Given the description of an element on the screen output the (x, y) to click on. 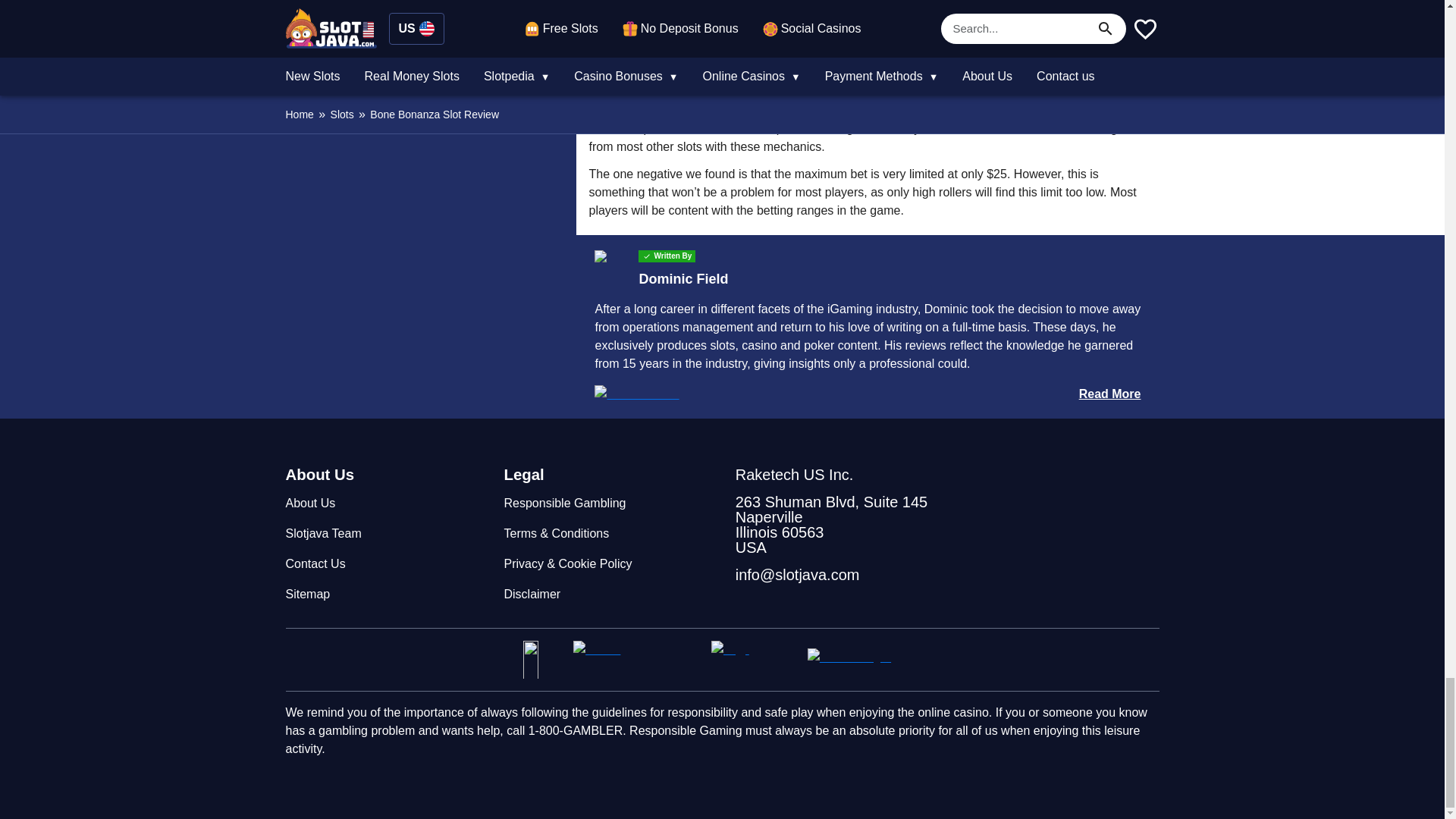
SlotJava.com partner (541, 659)
SlotJava.com partner (635, 659)
SlotJava.com partner (752, 659)
SlotJava.com partner (864, 659)
